Given the description of an element on the screen output the (x, y) to click on. 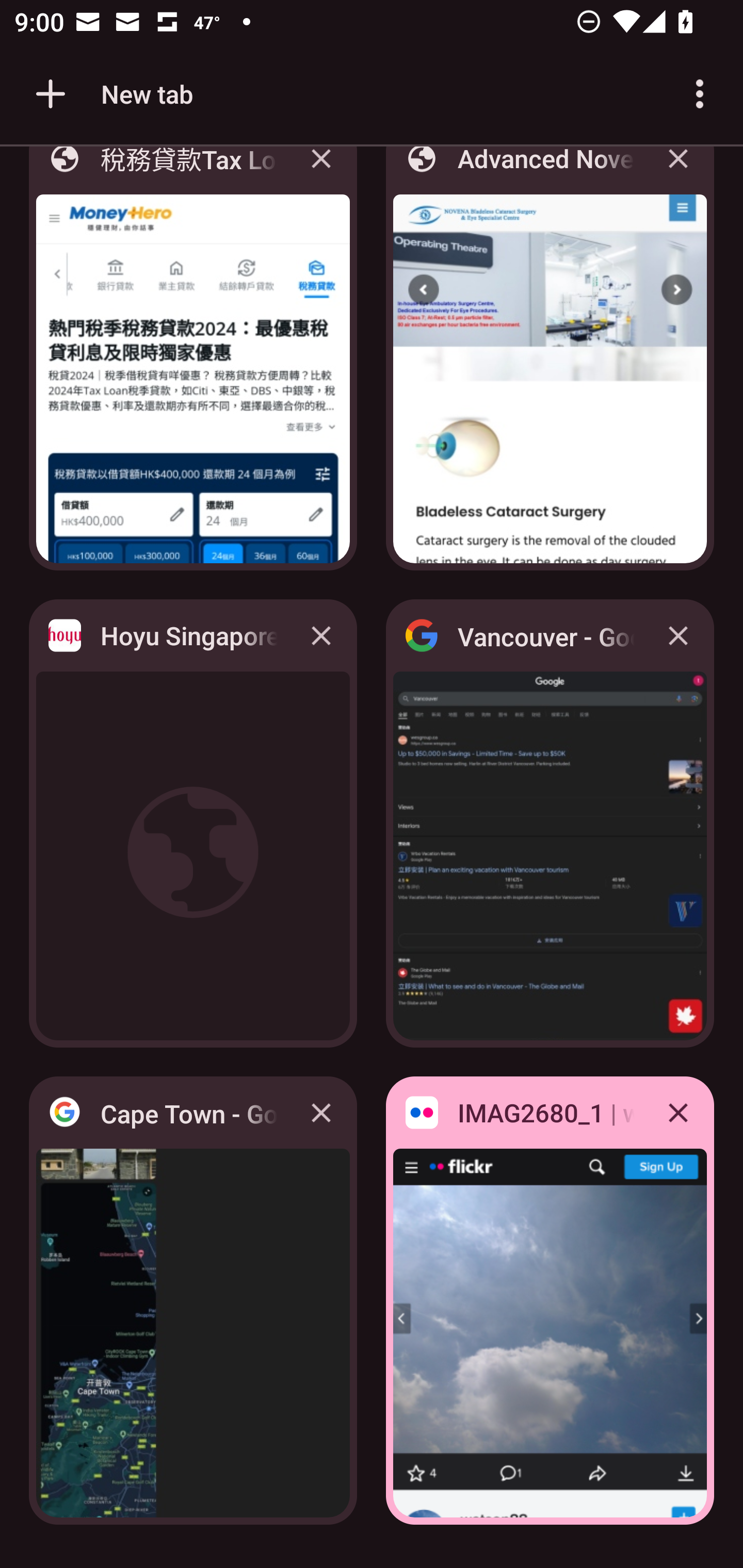
New tab (111, 93)
Customize and control Google Chrome (699, 93)
Close Vancouver - Google 搜索 tab (677, 635)
Close Cape Town - Google 搜索 tab (320, 1112)
Close IMAG2680_1 | watson88 | Flickr tab (677, 1112)
